Given the description of an element on the screen output the (x, y) to click on. 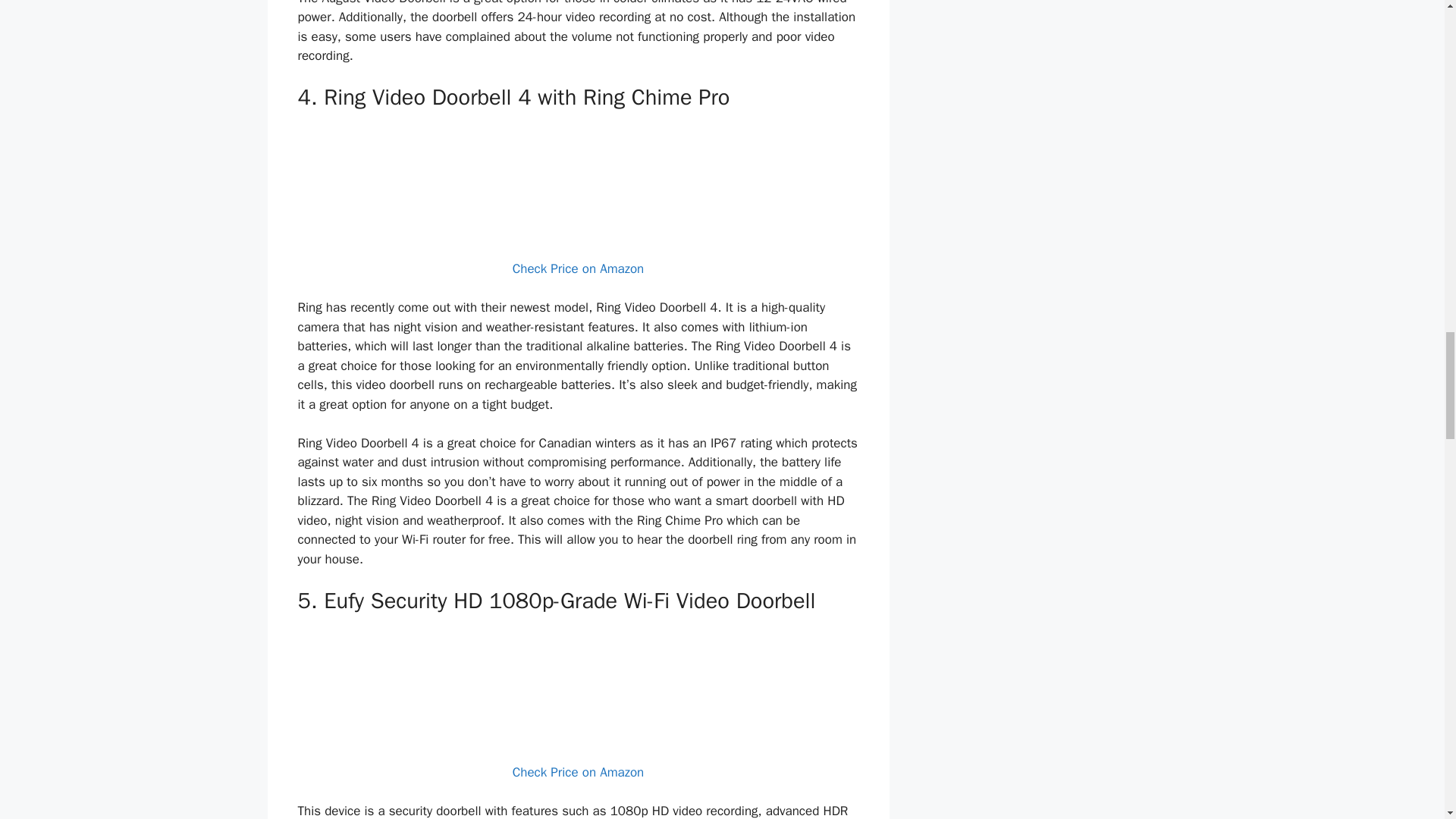
Check Price on Amazon (578, 772)
Check Price on Amazon (578, 268)
